Given the description of an element on the screen output the (x, y) to click on. 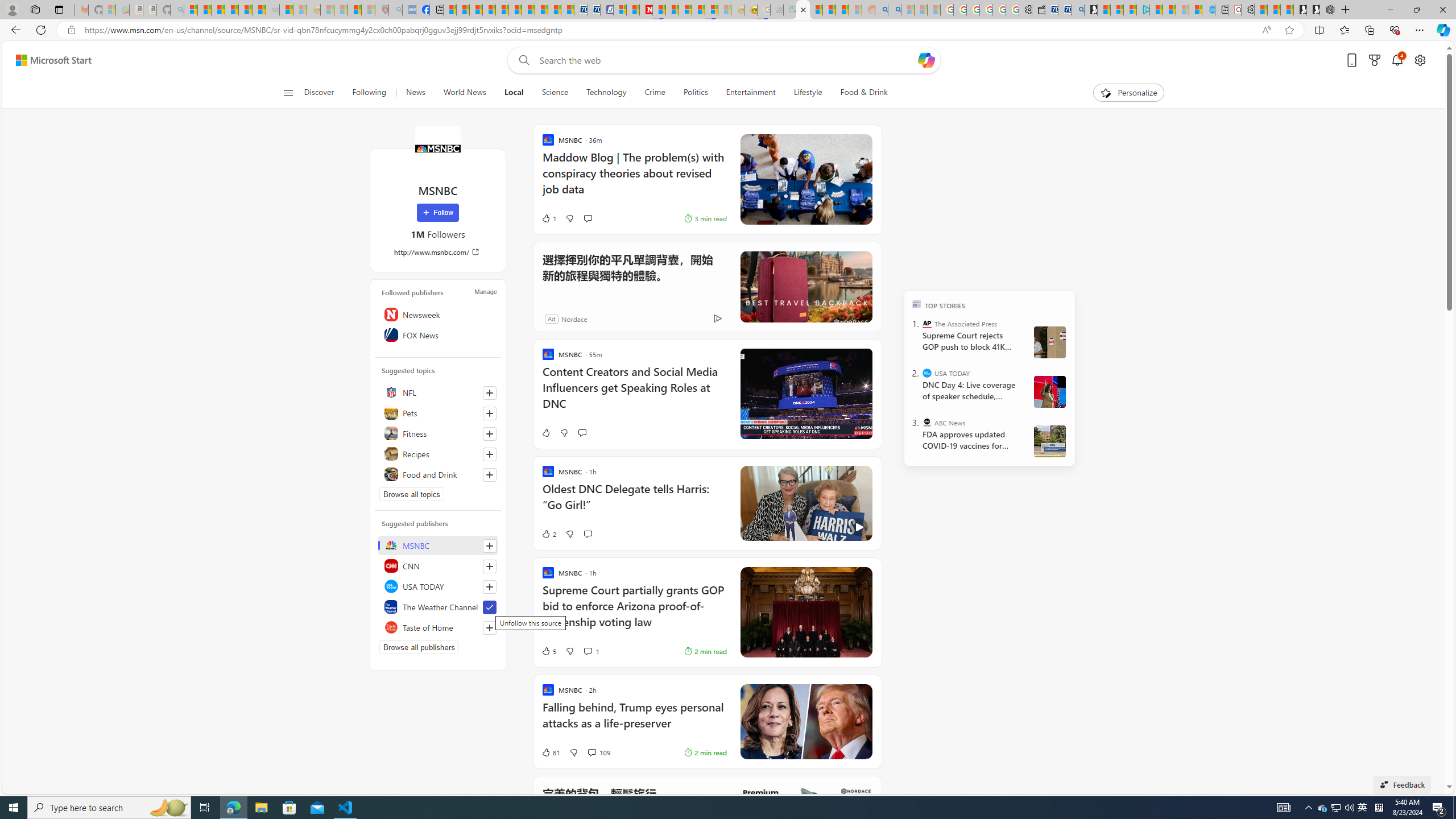
USA TODAY (927, 372)
5 Like (547, 650)
